Given the description of an element on the screen output the (x, y) to click on. 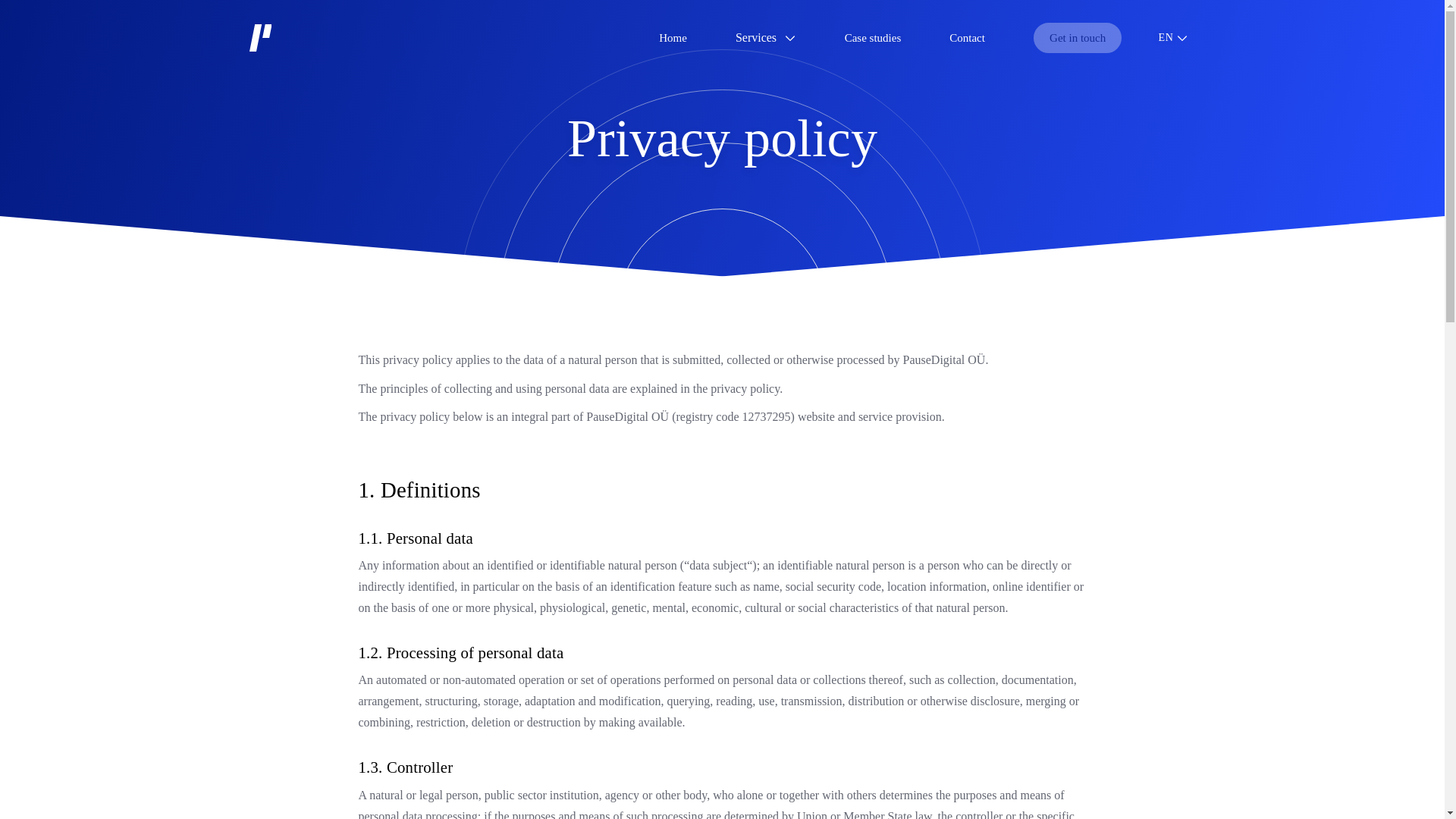
Get in touch (1136, 31)
Case studies (892, 32)
Get in touch (1127, 34)
Home (631, 31)
Contact (1011, 32)
